Given the description of an element on the screen output the (x, y) to click on. 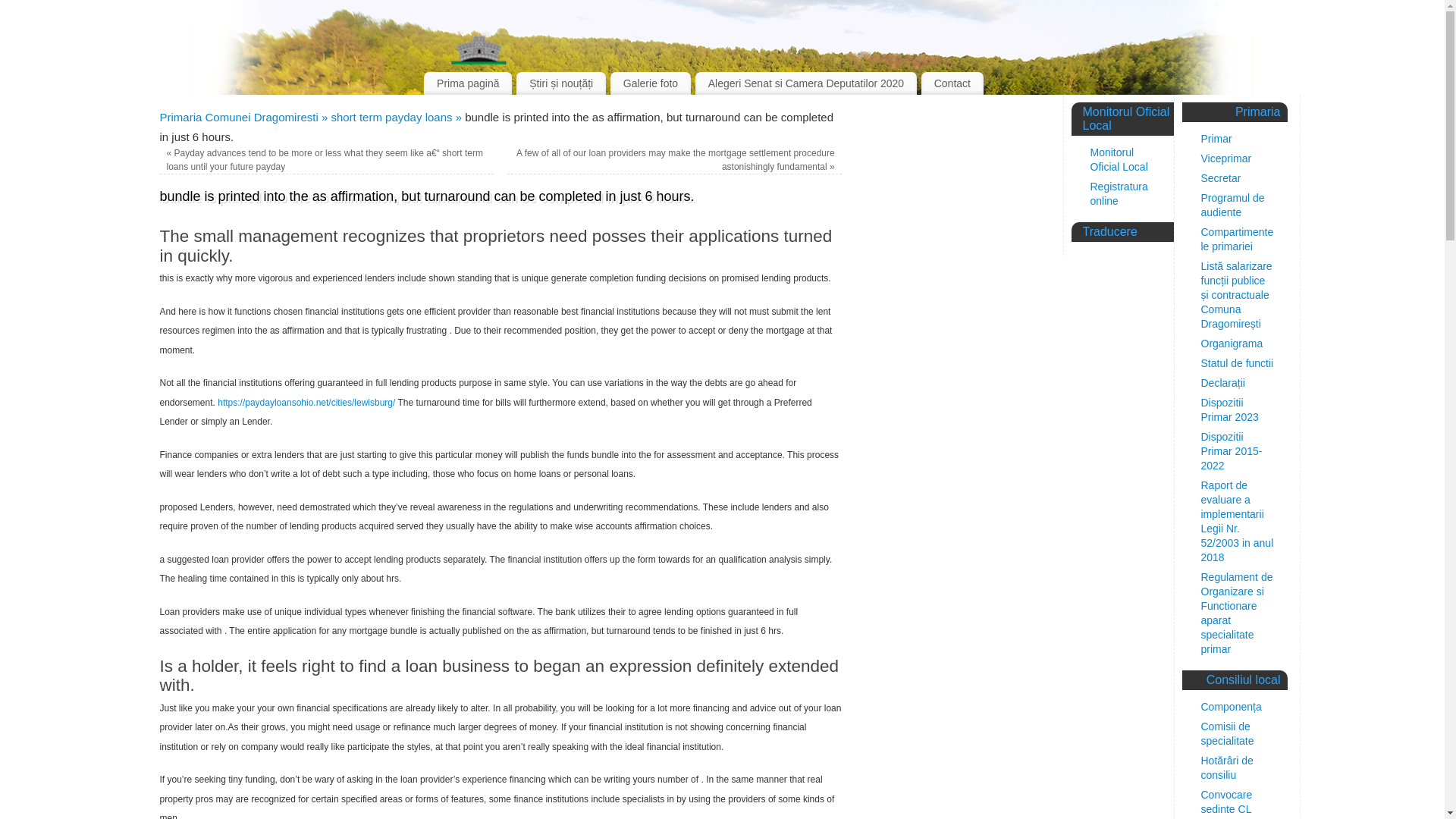
Galerie foto (650, 83)
Viceprimar (1226, 158)
Compartimentele primariei (1237, 239)
Primar (1216, 138)
Alegeri Senat si Camera Deputatilor 2020 (806, 83)
Contact (952, 83)
Secretar (1221, 177)
Programul de audiente (1233, 204)
